Given the description of an element on the screen output the (x, y) to click on. 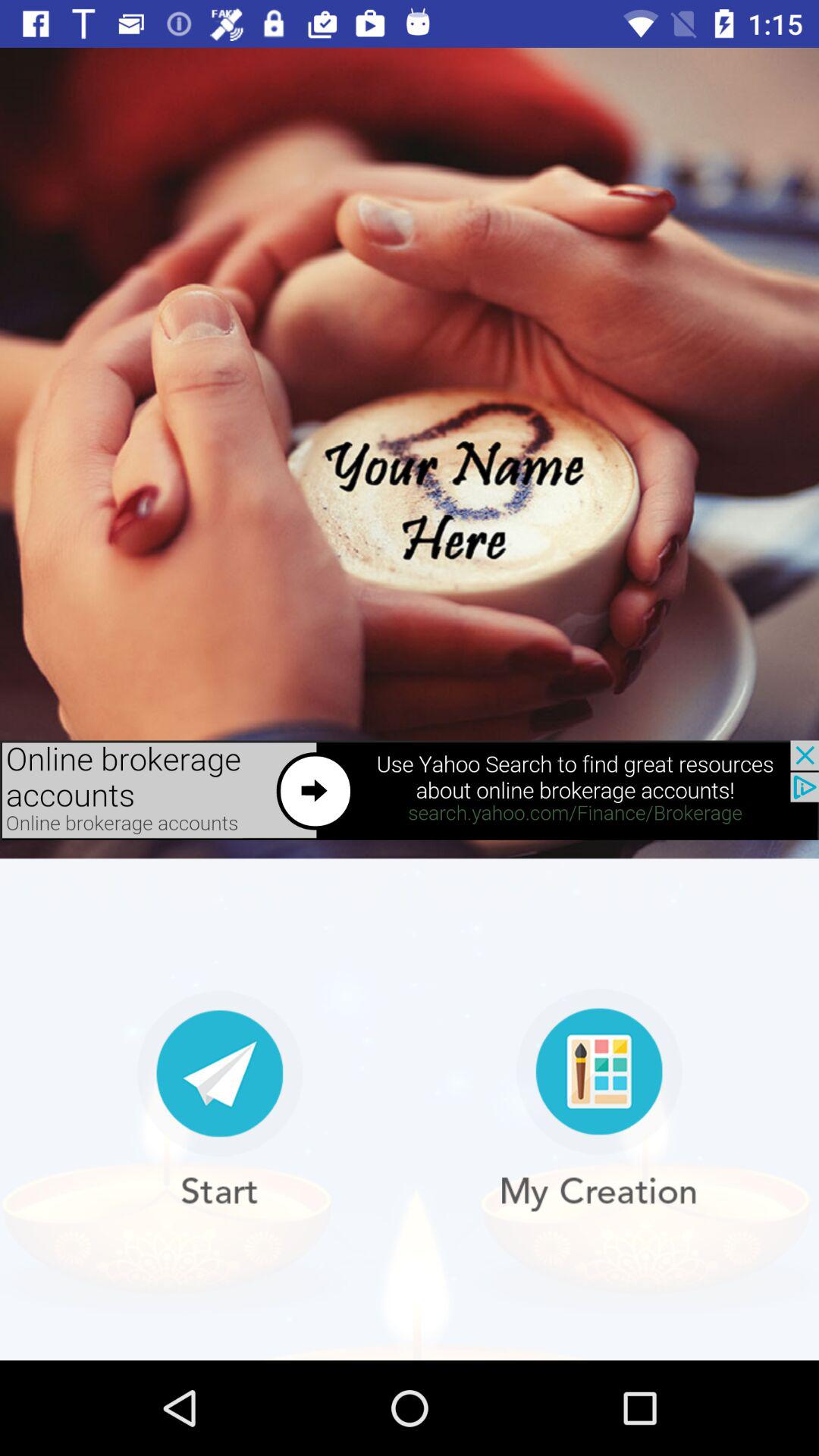
start button (219, 1099)
